Given the description of an element on the screen output the (x, y) to click on. 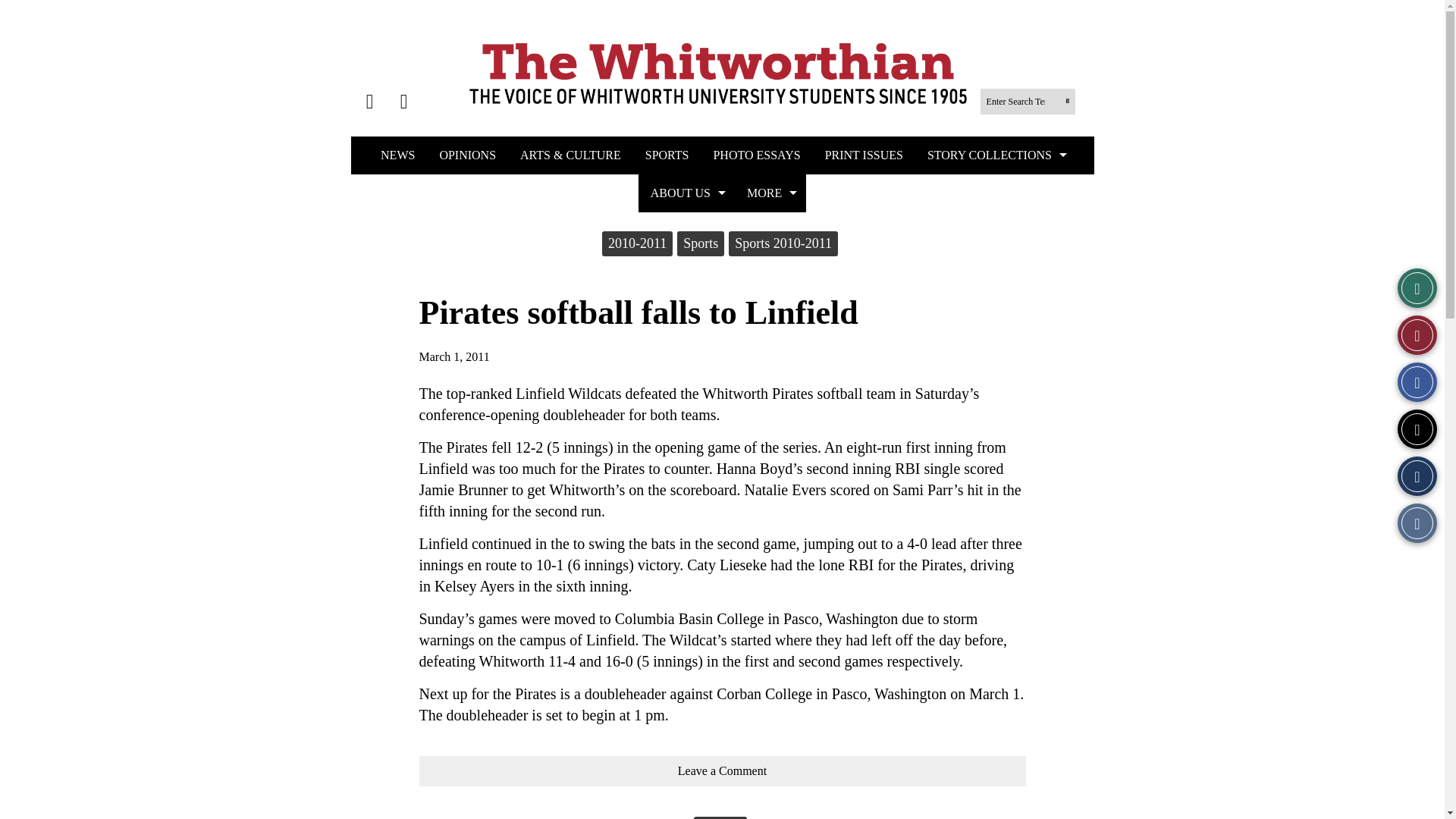
STORY COLLECTIONS (995, 155)
OPINIONS (467, 155)
MORE (770, 193)
SPORTS (667, 155)
NEWS (397, 155)
PHOTO ESSAYS (756, 155)
PRINT ISSUES (863, 155)
ABOUT US (687, 193)
